Given the description of an element on the screen output the (x, y) to click on. 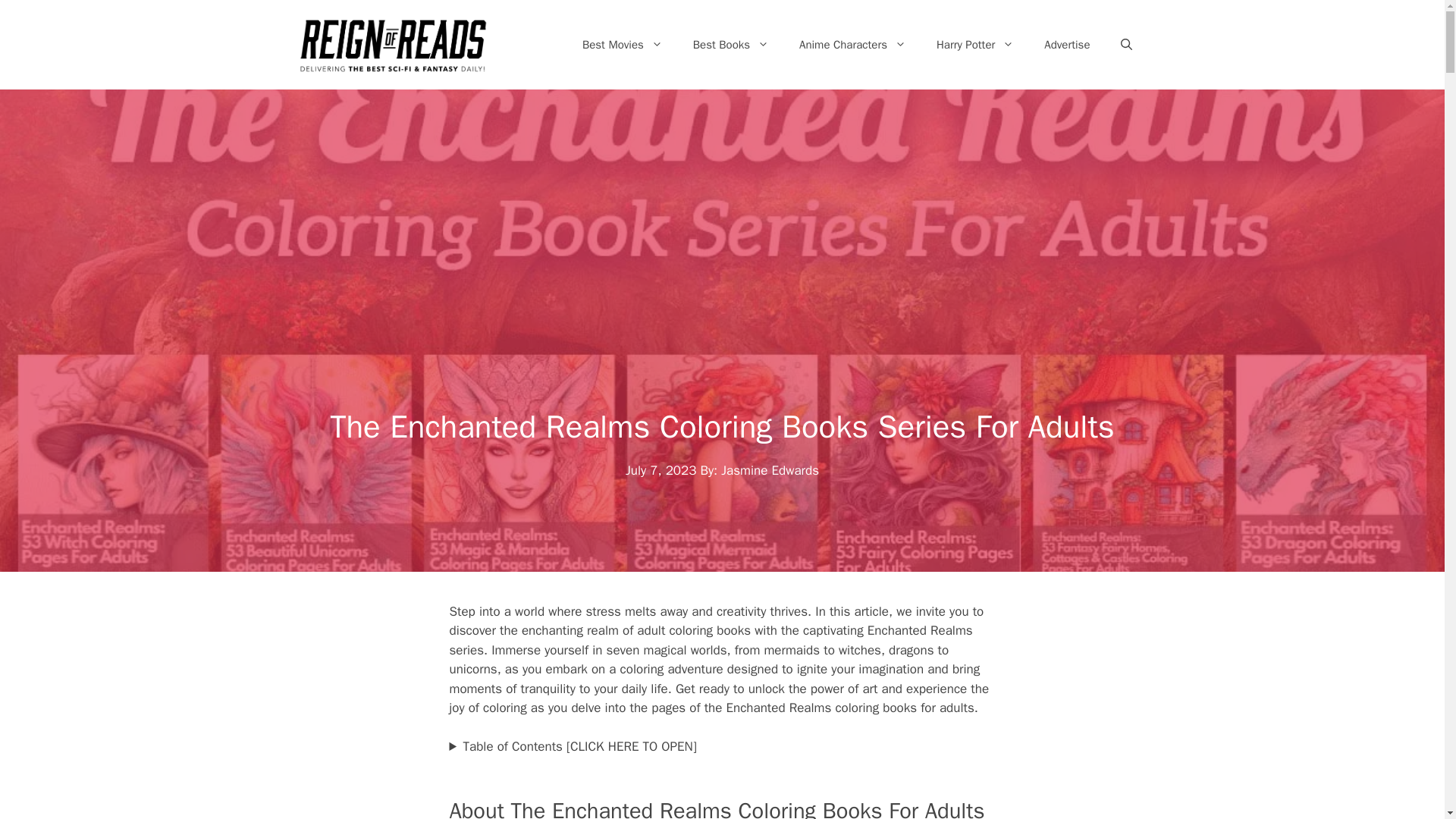
Advertise (1067, 44)
Harry Potter (975, 44)
Best Books (731, 44)
Anime Characters (852, 44)
Best Movies (622, 44)
